Given the description of an element on the screen output the (x, y) to click on. 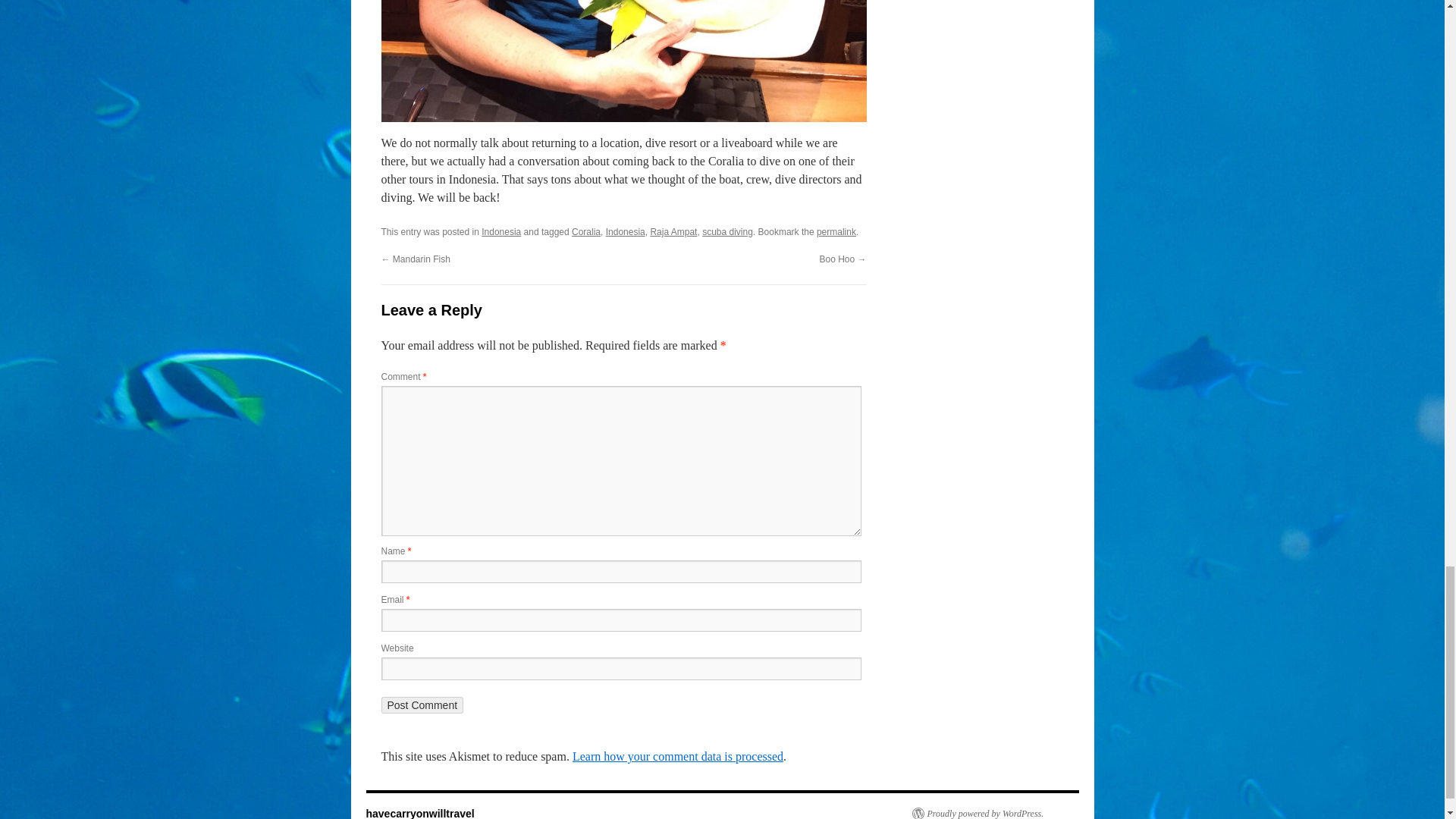
Post Comment (421, 704)
Permalink to Live aboard Scuba Diving (836, 231)
